Given the description of an element on the screen output the (x, y) to click on. 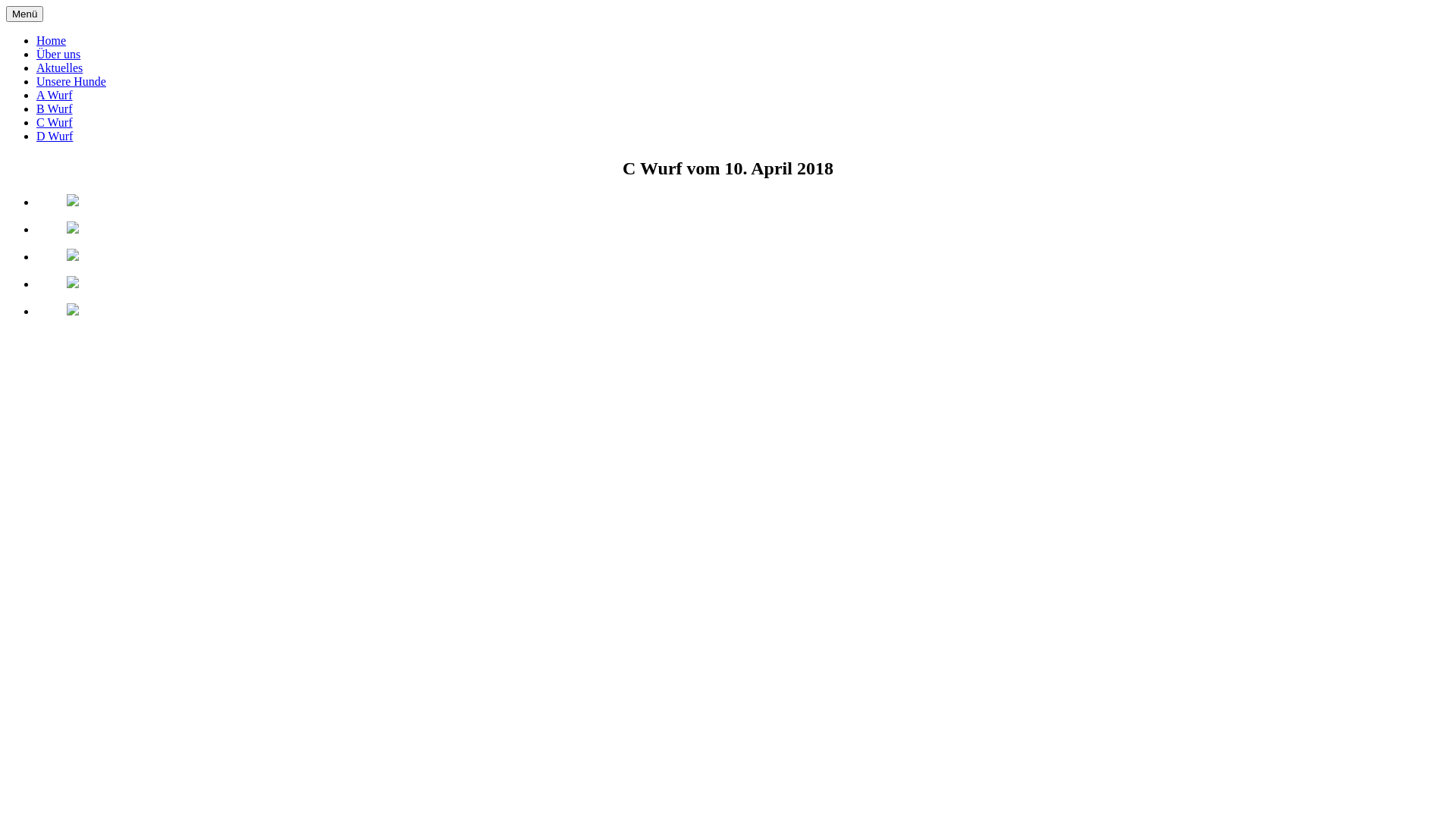
Unsere Hunde Element type: text (71, 81)
A Wurf Element type: text (54, 94)
Home Element type: text (50, 40)
C Wurf Element type: text (54, 122)
Aktuelles Element type: text (59, 67)
D Wurf Element type: text (54, 135)
B Wurf Element type: text (54, 108)
